Given the description of an element on the screen output the (x, y) to click on. 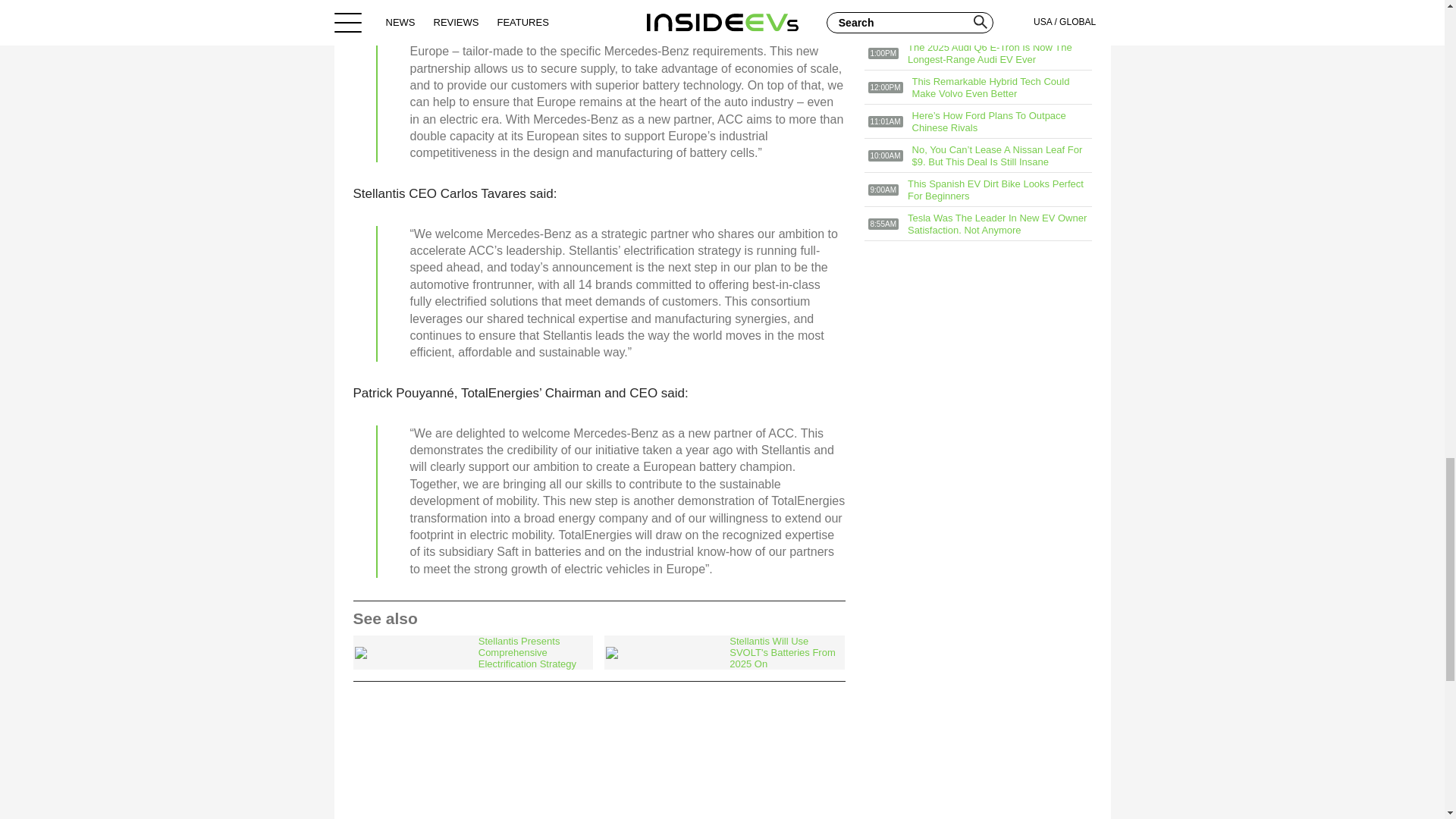
Stellantis Will Use SVOLT's Batteries From 2025 On (724, 652)
Stellantis Presents Comprehensive Electrification Strategy (473, 652)
